Given the description of an element on the screen output the (x, y) to click on. 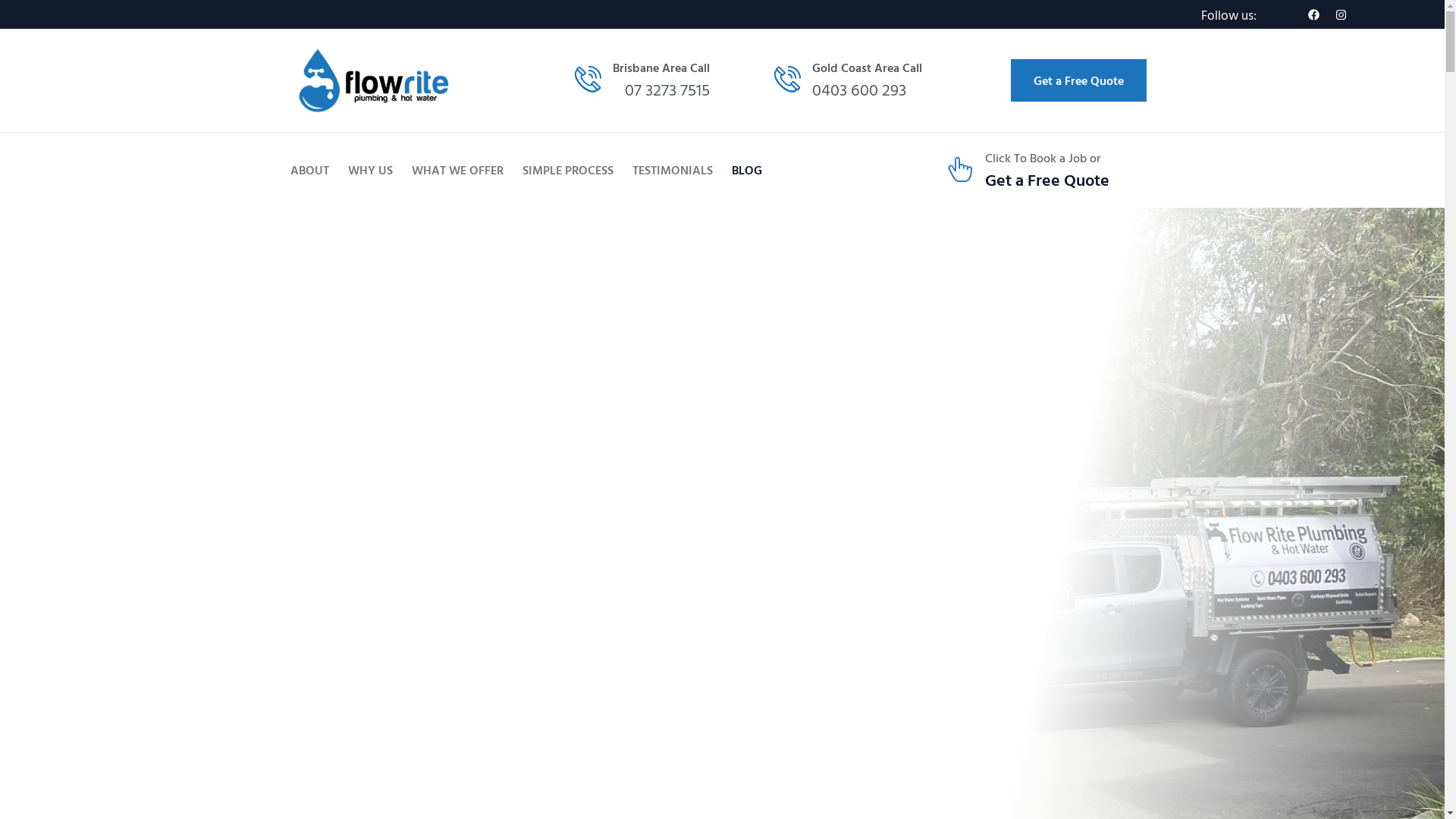
WHY US Element type: text (369, 169)
TESTIMONIALS Element type: text (672, 169)
Get a Free Quote Element type: text (1078, 80)
BLOG Element type: text (746, 169)
Click To Book a Job or
Get a Free Quote Element type: text (1046, 169)
Brisbane Area Call
07 3273 7515 Element type: text (665, 79)
SIMPLE PROCESS Element type: text (566, 169)
ABOUT Element type: text (308, 169)
Gold Coast Area Call
0403 600 293 Element type: text (857, 79)
WHAT WE OFFER Element type: text (456, 169)
